Given the description of an element on the screen output the (x, y) to click on. 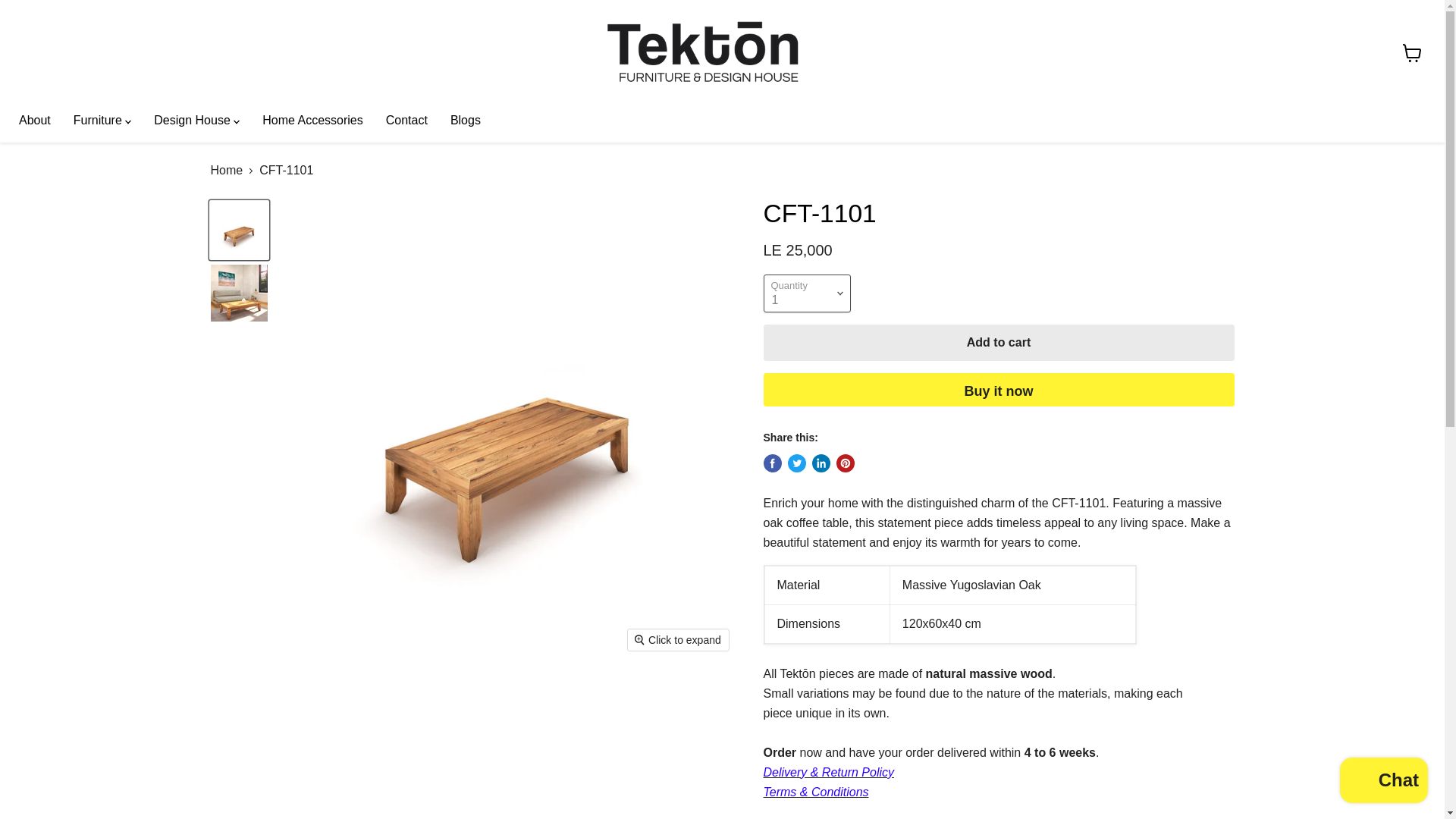
Furniture (102, 120)
Design House (196, 120)
Shopify online store chat (1383, 781)
Blogs (465, 120)
Contact (406, 120)
View cart (1411, 52)
About (34, 120)
Home Accessories (312, 120)
